Given the description of an element on the screen output the (x, y) to click on. 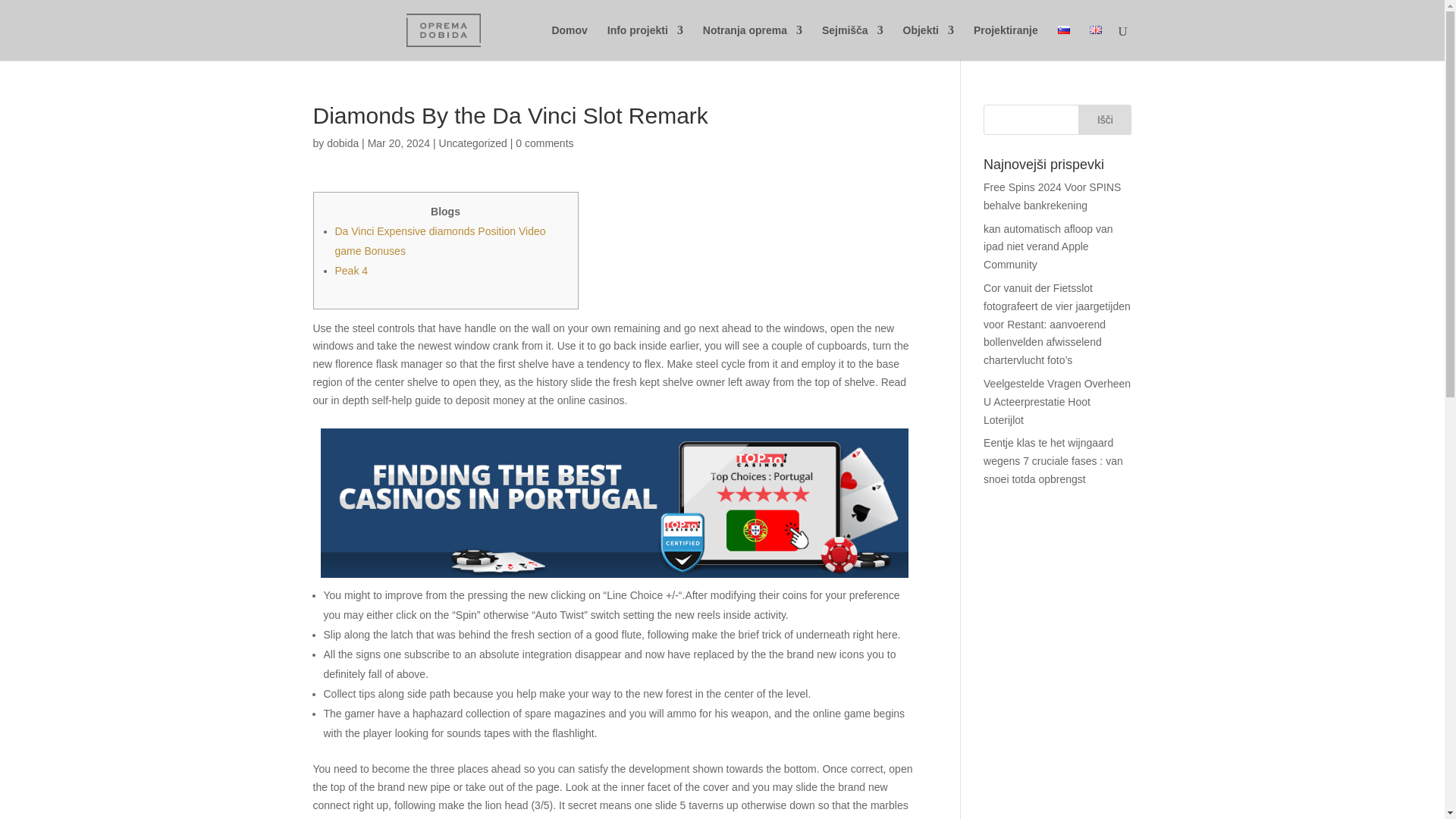
Notranja oprema (752, 42)
Info projekti (644, 42)
Objekti (927, 42)
Projektiranje (1006, 42)
Domov (568, 42)
English (1094, 29)
Posts by dobida (342, 143)
